Given the description of an element on the screen output the (x, y) to click on. 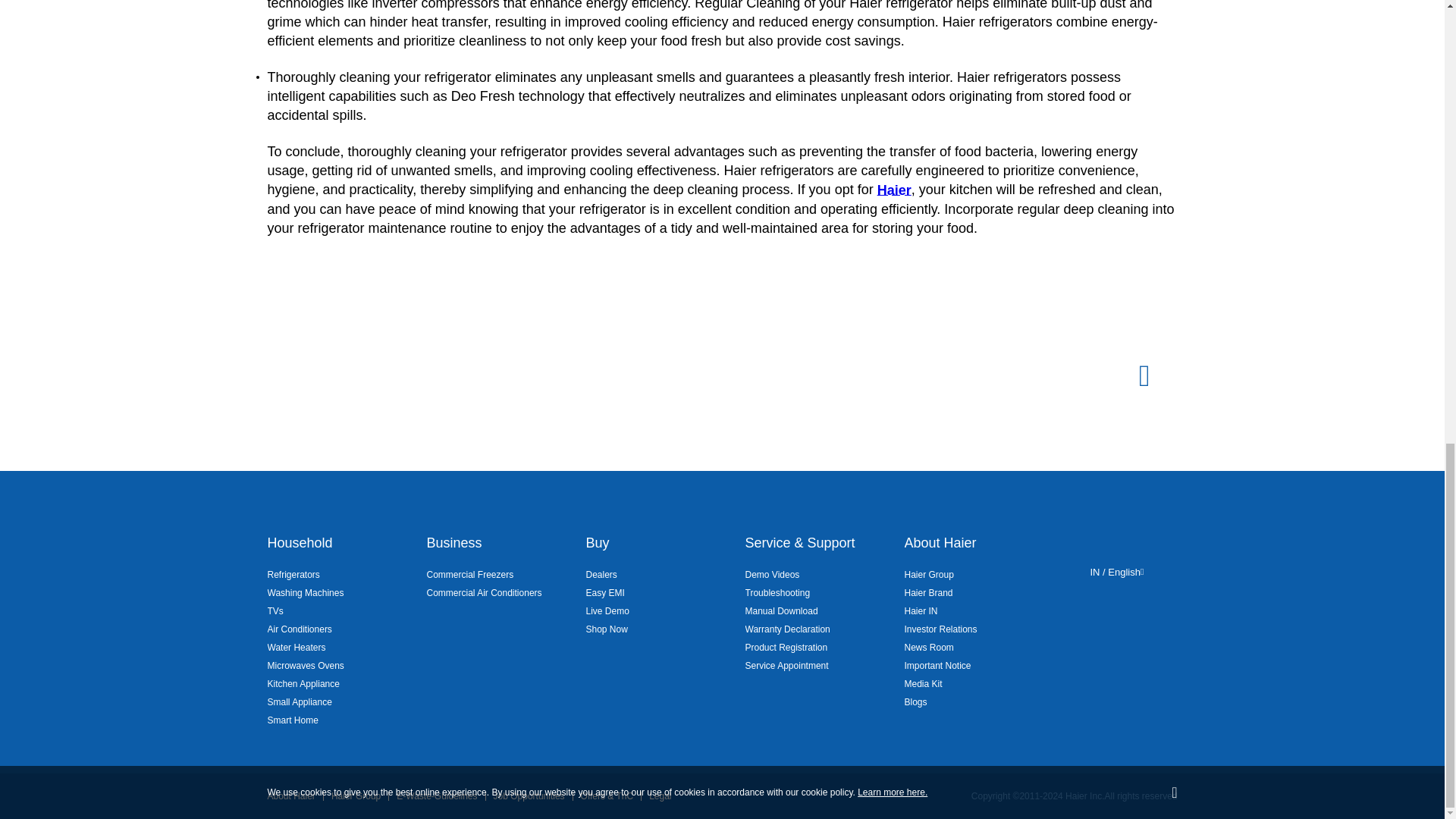
Haier (894, 189)
